Given the description of an element on the screen output the (x, y) to click on. 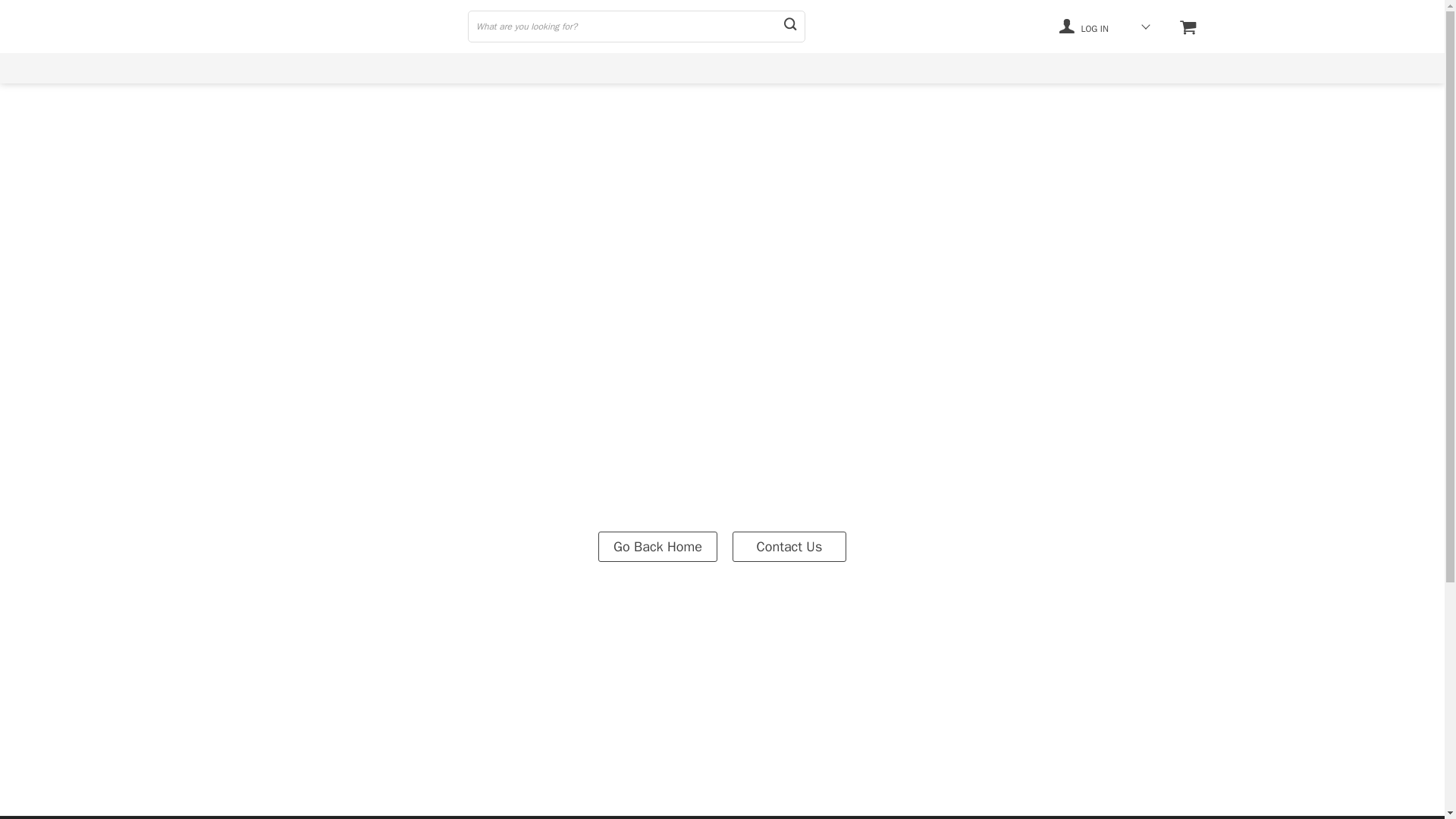
Contact Us (788, 545)
LOG IN (1083, 25)
Go Back Home (657, 545)
